Given the description of an element on the screen output the (x, y) to click on. 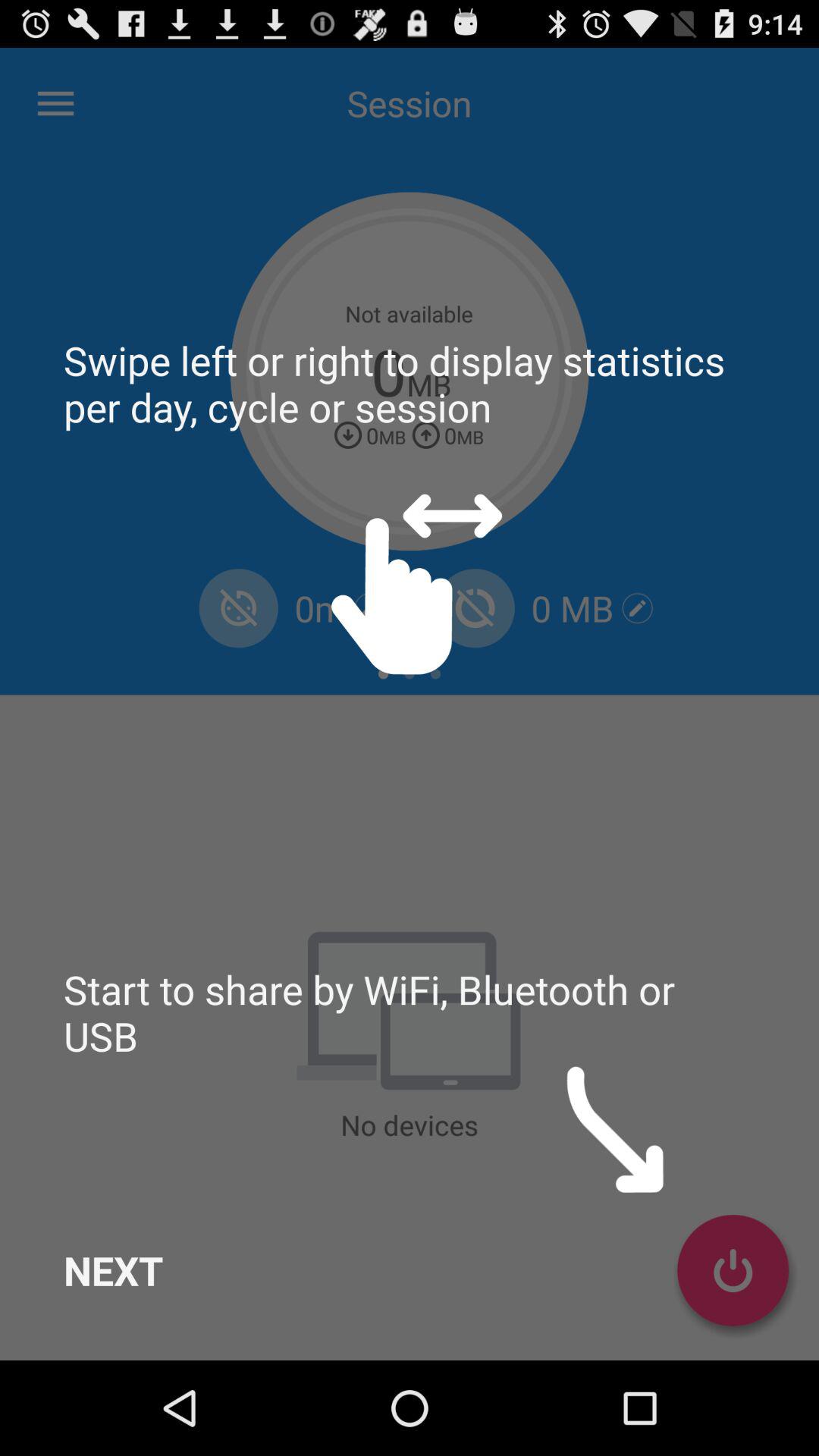
click next item (113, 1270)
